Given the description of an element on the screen output the (x, y) to click on. 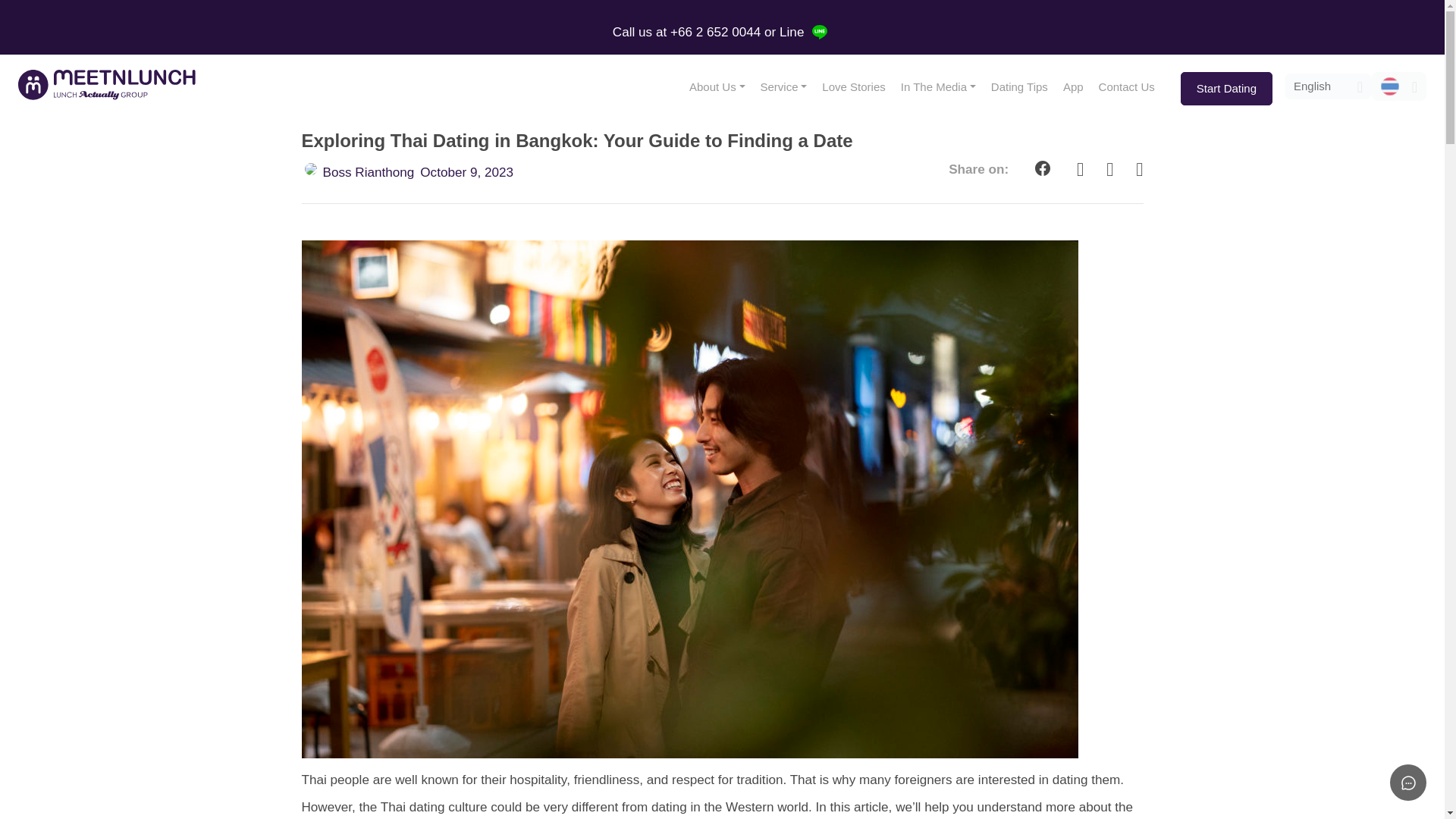
Service (782, 87)
or Line (786, 32)
Dating Tips (1019, 87)
App (1072, 87)
Love Stories (852, 87)
Love Stories (852, 87)
Thailand (1398, 86)
In The Media (938, 87)
Dating Tips (1019, 87)
App (1072, 87)
About Us (716, 87)
English (1327, 86)
About Us (716, 87)
Service (782, 87)
Contact Us (1125, 87)
